Given the description of an element on the screen output the (x, y) to click on. 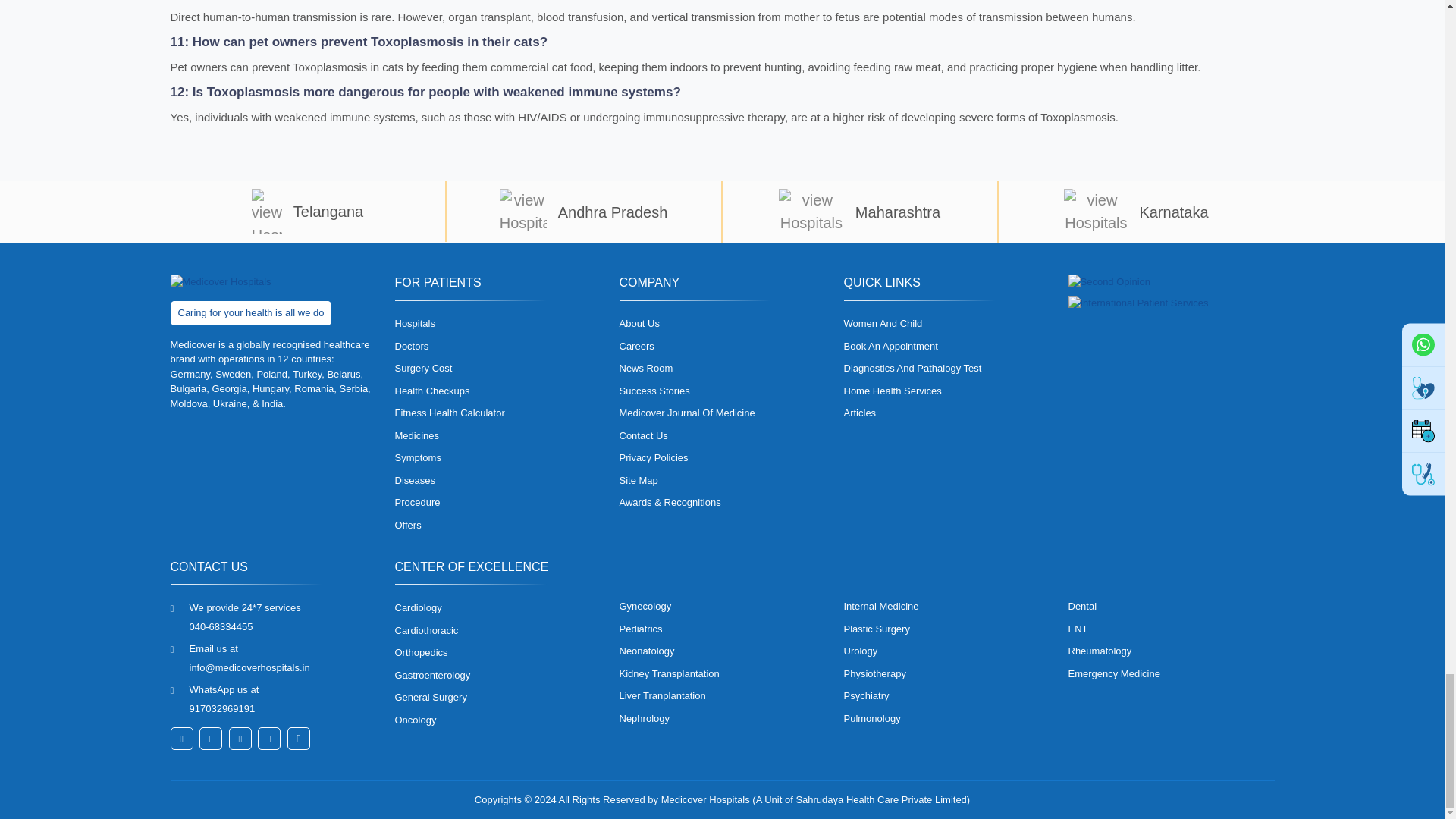
Like us on Facebook (181, 738)
Watch us on Youtube (298, 738)
Tweet us on Twitter (210, 738)
Follow us on Instagram (269, 738)
Follow us on Linkedin (239, 738)
